Given the description of an element on the screen output the (x, y) to click on. 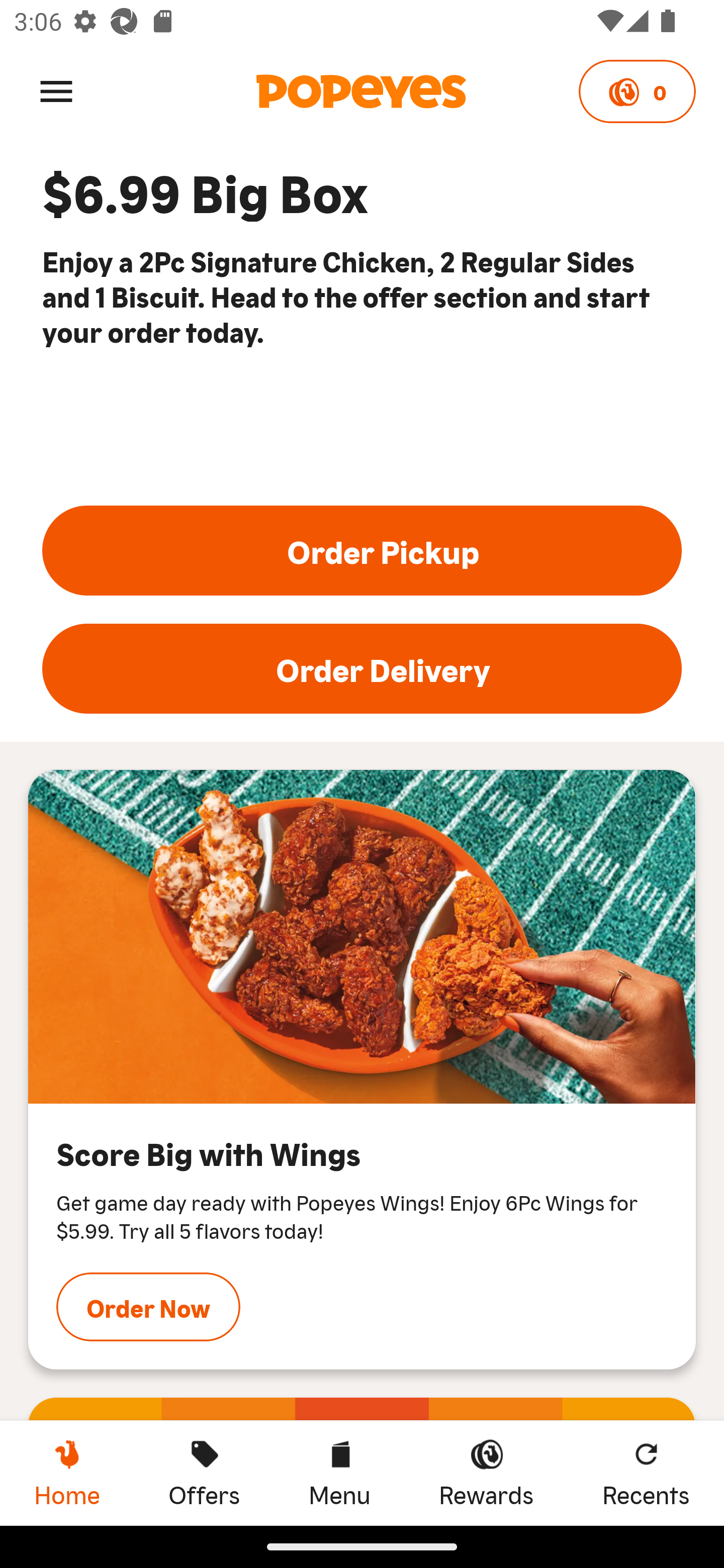
Menu  (56, 90)
0 Points 0 (636, 91)
Order Pickup (361, 549)
Order Delivery (361, 668)
Score Big with Wings (361, 936)
Order Now (148, 1306)
Home, current page Home Home, current page (66, 1472)
Offers Offers Offers (203, 1472)
Menu Menu Menu (339, 1472)
Rewards Rewards Rewards (486, 1472)
Recents Recents Recents (646, 1472)
